Given the description of an element on the screen output the (x, y) to click on. 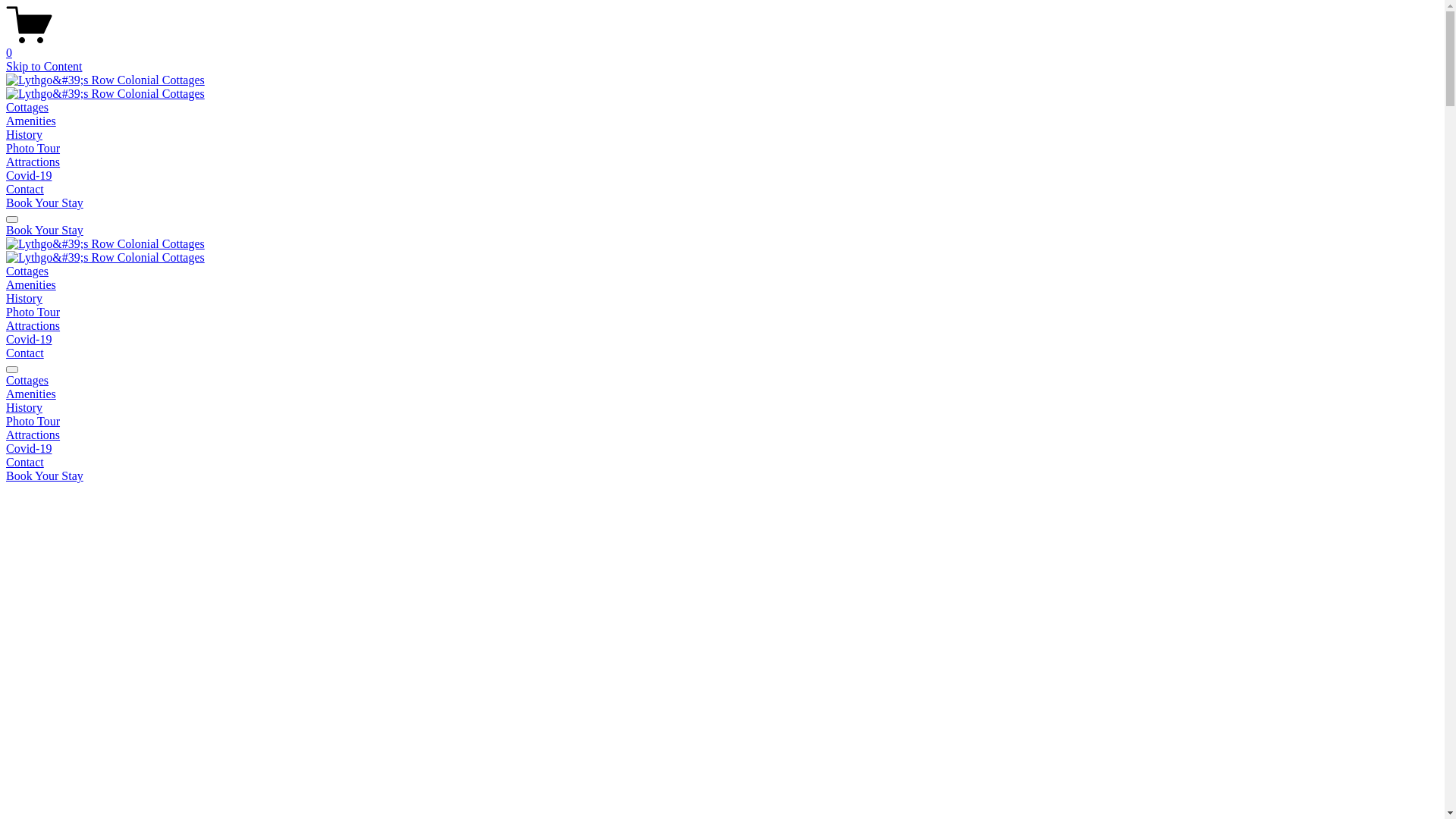
Book Your Stay Element type: text (44, 202)
Amenities Element type: text (31, 120)
Contact Element type: text (24, 188)
Covid-19 Element type: text (722, 448)
Contact Element type: text (722, 462)
Book Your Stay Element type: text (44, 475)
Amenities Element type: text (31, 284)
Photo Tour Element type: text (722, 421)
0 Element type: text (722, 45)
Attractions Element type: text (722, 435)
Attractions Element type: text (32, 161)
History Element type: text (24, 297)
Cottages Element type: text (722, 380)
History Element type: text (722, 407)
Attractions Element type: text (32, 325)
Amenities Element type: text (722, 394)
Photo Tour Element type: text (32, 311)
Cottages Element type: text (27, 106)
Skip to Content Element type: text (43, 65)
Book Your Stay Element type: text (44, 229)
Covid-19 Element type: text (28, 175)
Cottages Element type: text (27, 270)
History Element type: text (24, 134)
Contact Element type: text (24, 352)
Photo Tour Element type: text (32, 147)
Covid-19 Element type: text (28, 338)
